Given the description of an element on the screen output the (x, y) to click on. 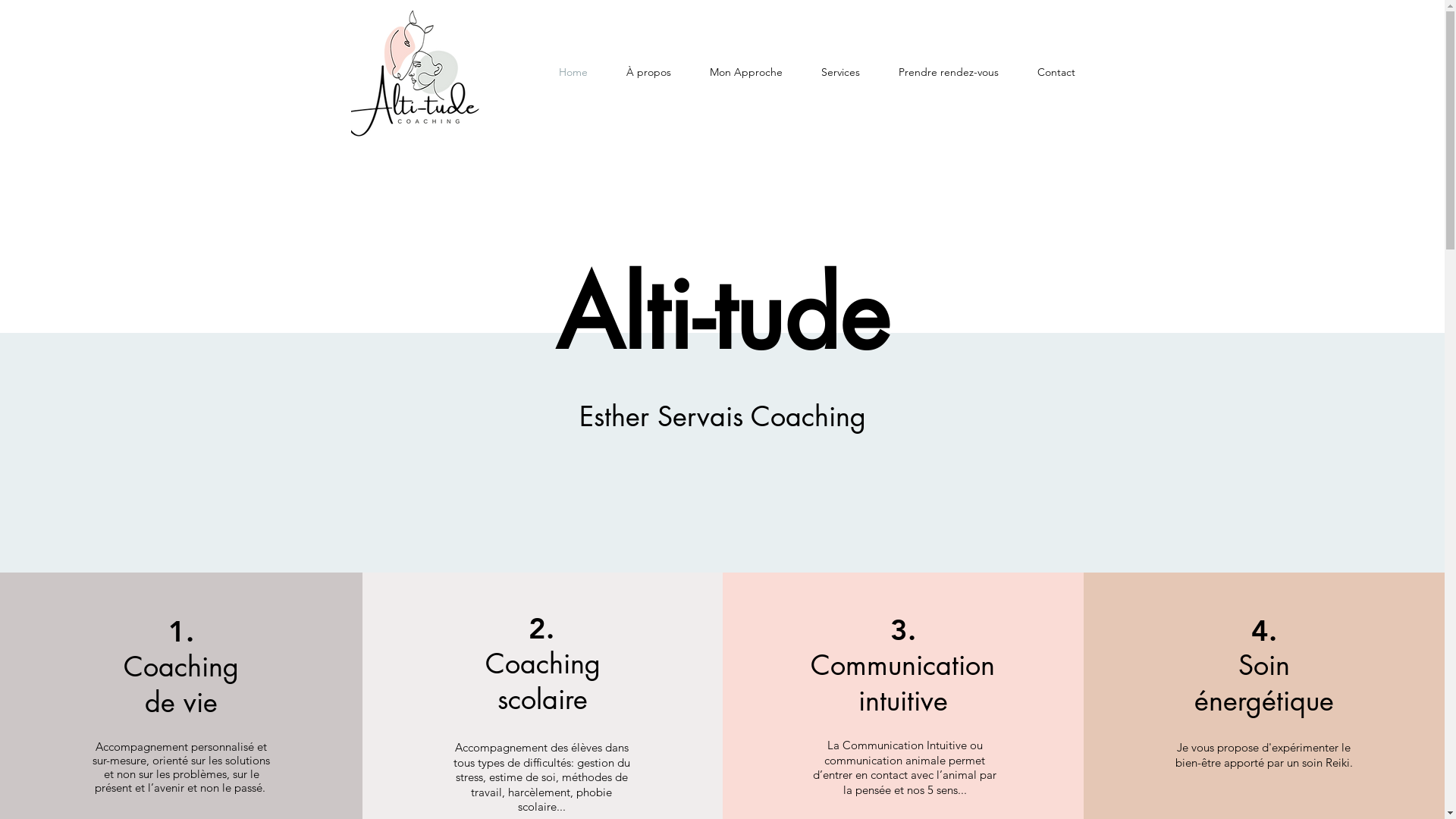
Prendre rendez-vous Element type: text (948, 72)
Contact Element type: text (1055, 72)
Coaching scolaire Element type: text (542, 681)
Coaching de vie Element type: text (180, 684)
Mon Approche Element type: text (745, 72)
Communication intuitive Element type: text (902, 682)
Services Element type: text (840, 72)
Home Element type: text (573, 72)
